Given the description of an element on the screen output the (x, y) to click on. 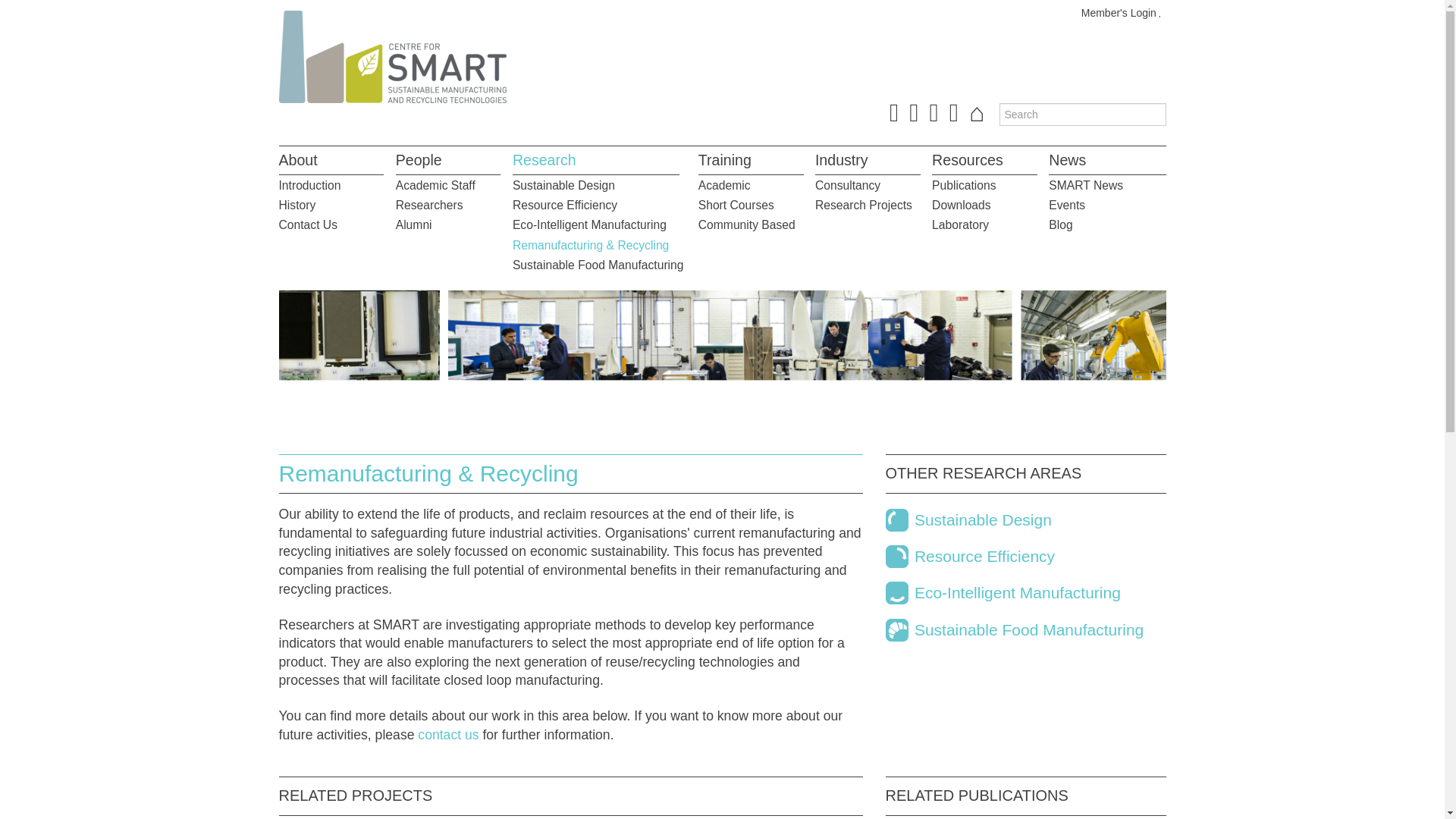
Introduction (309, 185)
Alumni (414, 224)
SMART News (1085, 185)
Eco-Intelligent Manufacturing (589, 224)
History (297, 205)
Training (724, 159)
People (419, 159)
Academic (724, 185)
Community Based (746, 224)
Laboratory (959, 224)
